Given the description of an element on the screen output the (x, y) to click on. 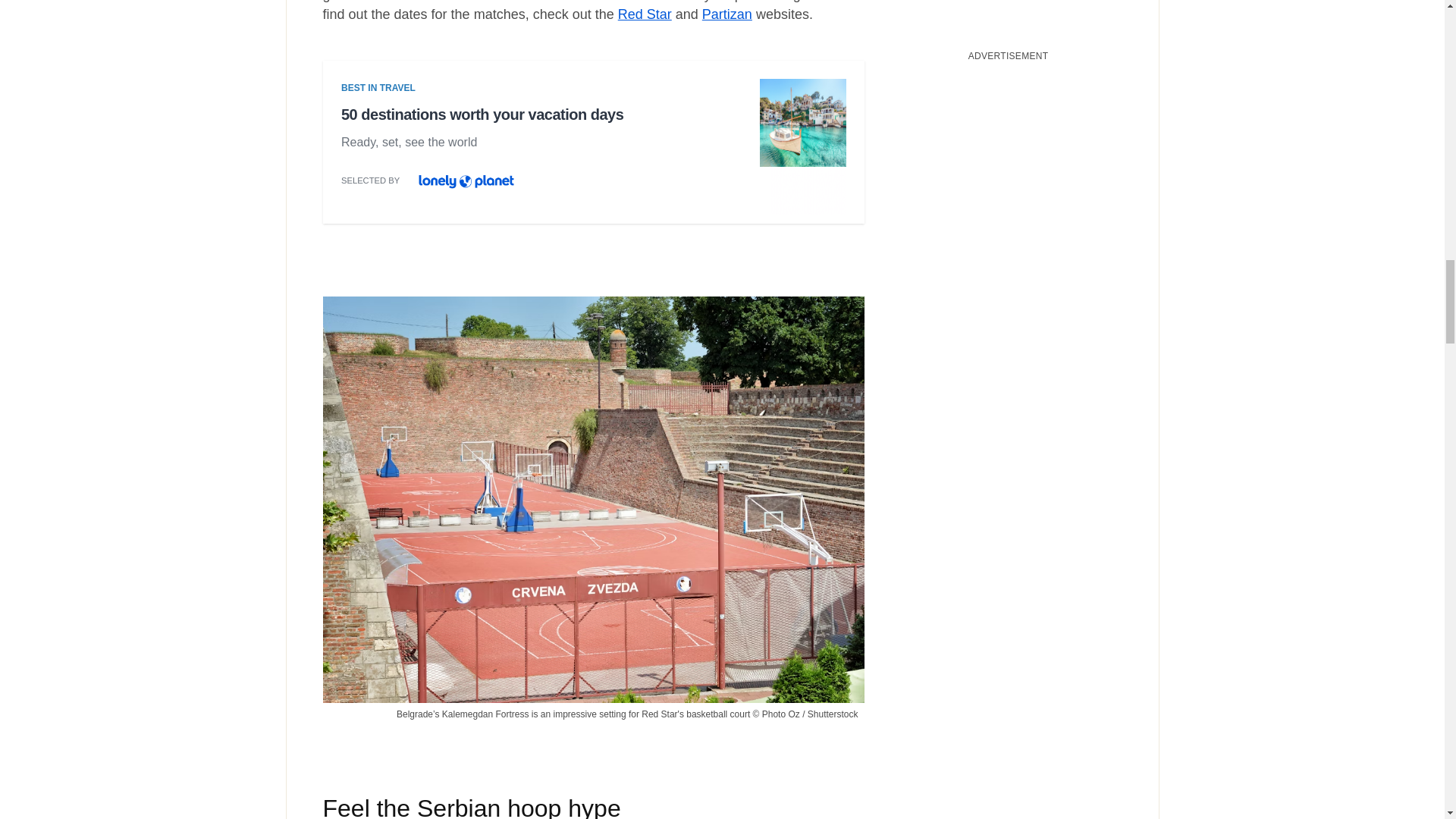
Red Star (644, 14)
3rd party ad content (592, 146)
Partizan (726, 14)
